Given the description of an element on the screen output the (x, y) to click on. 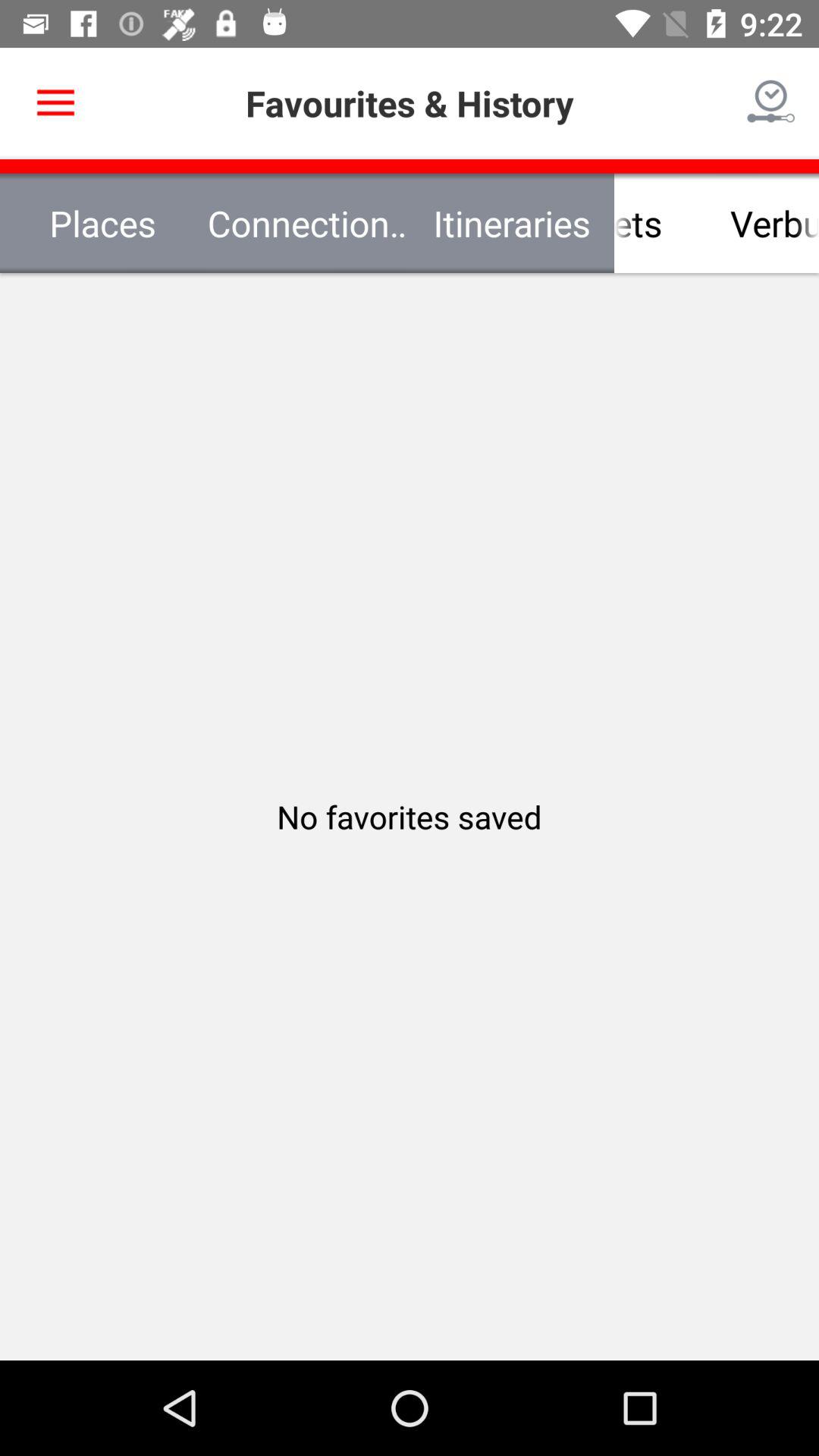
click the icon to the left of the connection requests icon (102, 223)
